Given the description of an element on the screen output the (x, y) to click on. 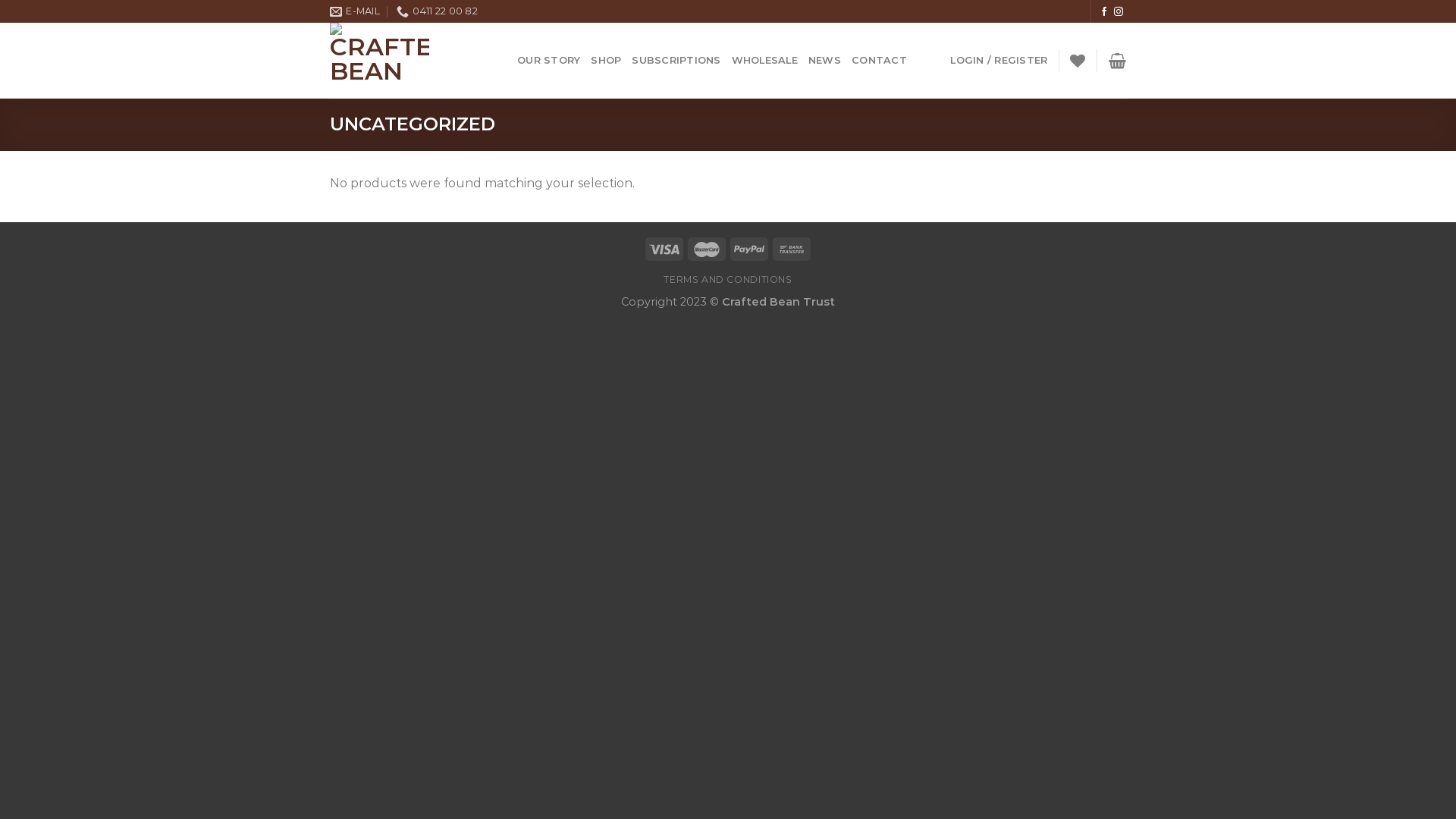
TERMS AND CONDITIONS Element type: text (727, 279)
NEWS Element type: text (824, 60)
Cart Element type: hover (1117, 60)
Follow on Facebook Element type: hover (1103, 11)
OUR STORY Element type: text (548, 60)
LOGIN / REGISTER Element type: text (998, 60)
Crafted Bean - Coffee Roasters on the Sunshine Coast Element type: hover (411, 60)
CONTACT Element type: text (878, 60)
E-MAIL Element type: text (354, 11)
0411 22 00 82 Element type: text (436, 11)
SUBSCRIPTIONS Element type: text (675, 60)
SHOP Element type: text (605, 60)
Follow on Instagram Element type: hover (1118, 11)
WHOLESALE Element type: text (764, 60)
